Given the description of an element on the screen output the (x, y) to click on. 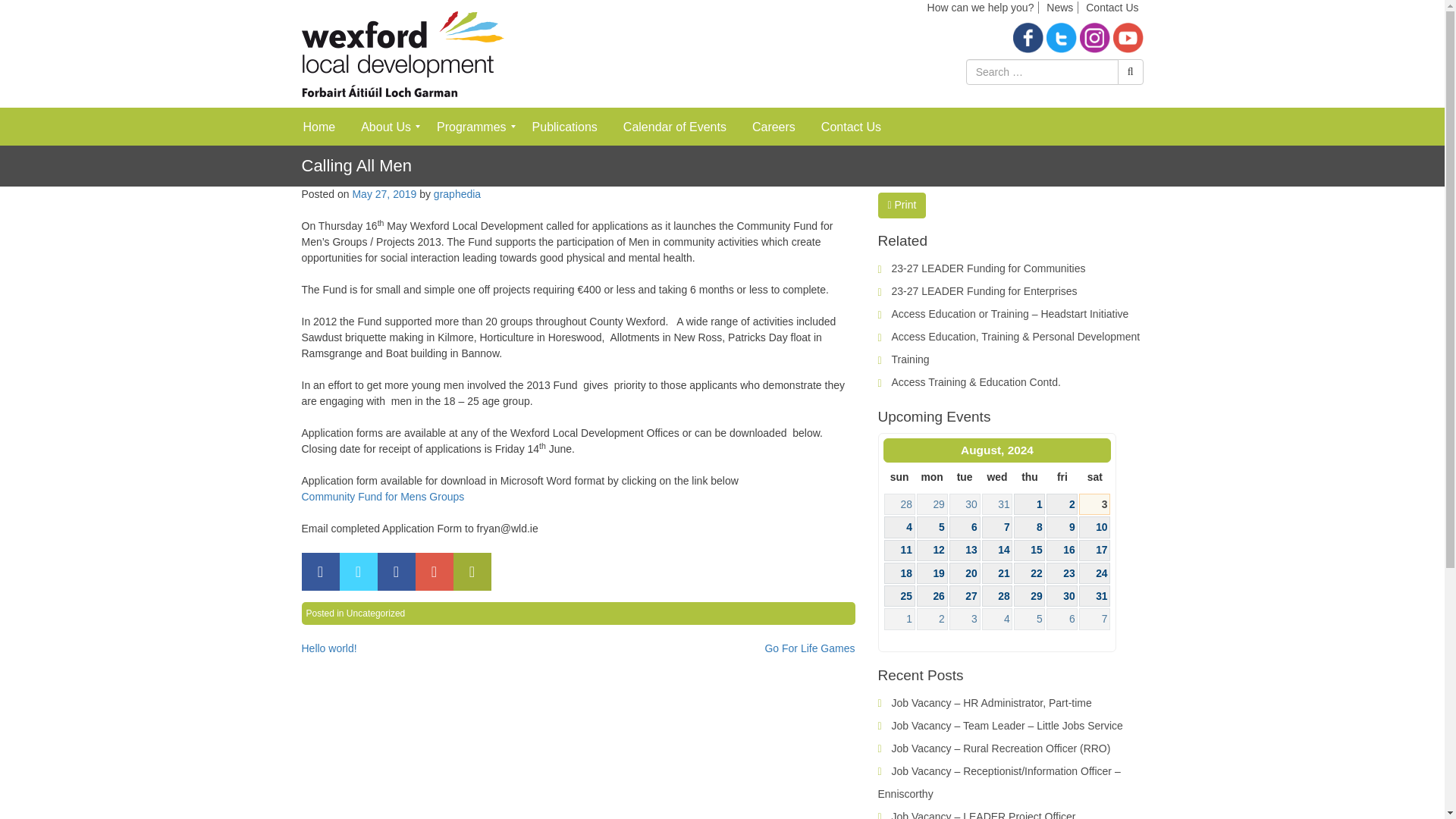
Share by Email (472, 571)
Calendar of Events (674, 126)
About Us (385, 126)
News (1059, 7)
Share on Google Plus (433, 571)
Contact Us (850, 126)
Publications (564, 126)
Programmes (471, 126)
Community Fund for Mens Groups (382, 496)
Search for: (1042, 71)
Contact Us (1112, 7)
graphedia (456, 193)
Share on Facebook (320, 571)
Share on LinkedIn (395, 571)
May 27, 2019 (384, 193)
